Given the description of an element on the screen output the (x, y) to click on. 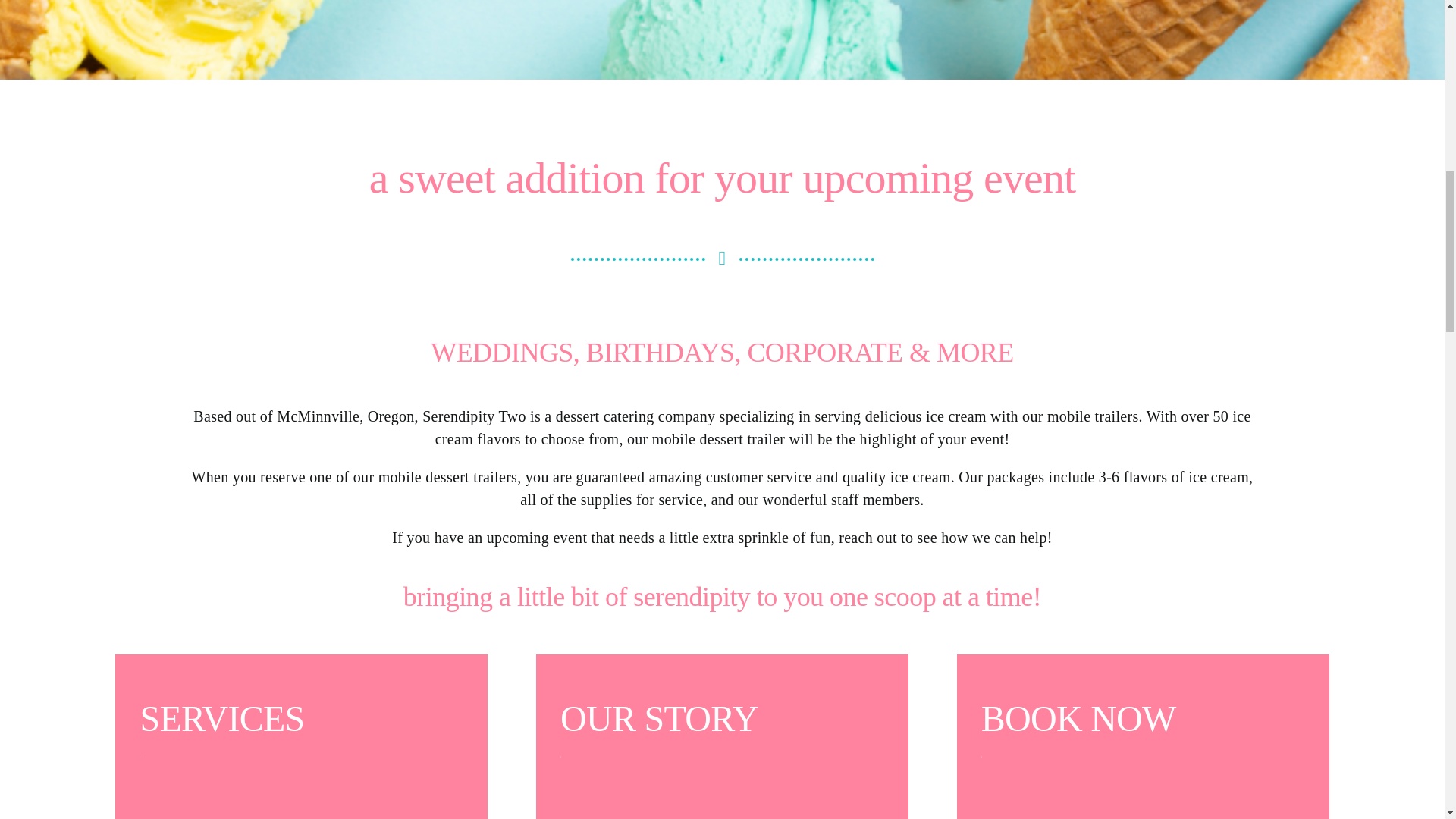
BOOK NOW (1142, 736)
OUR STORY (721, 736)
SERVICES (301, 736)
